Given the description of an element on the screen output the (x, y) to click on. 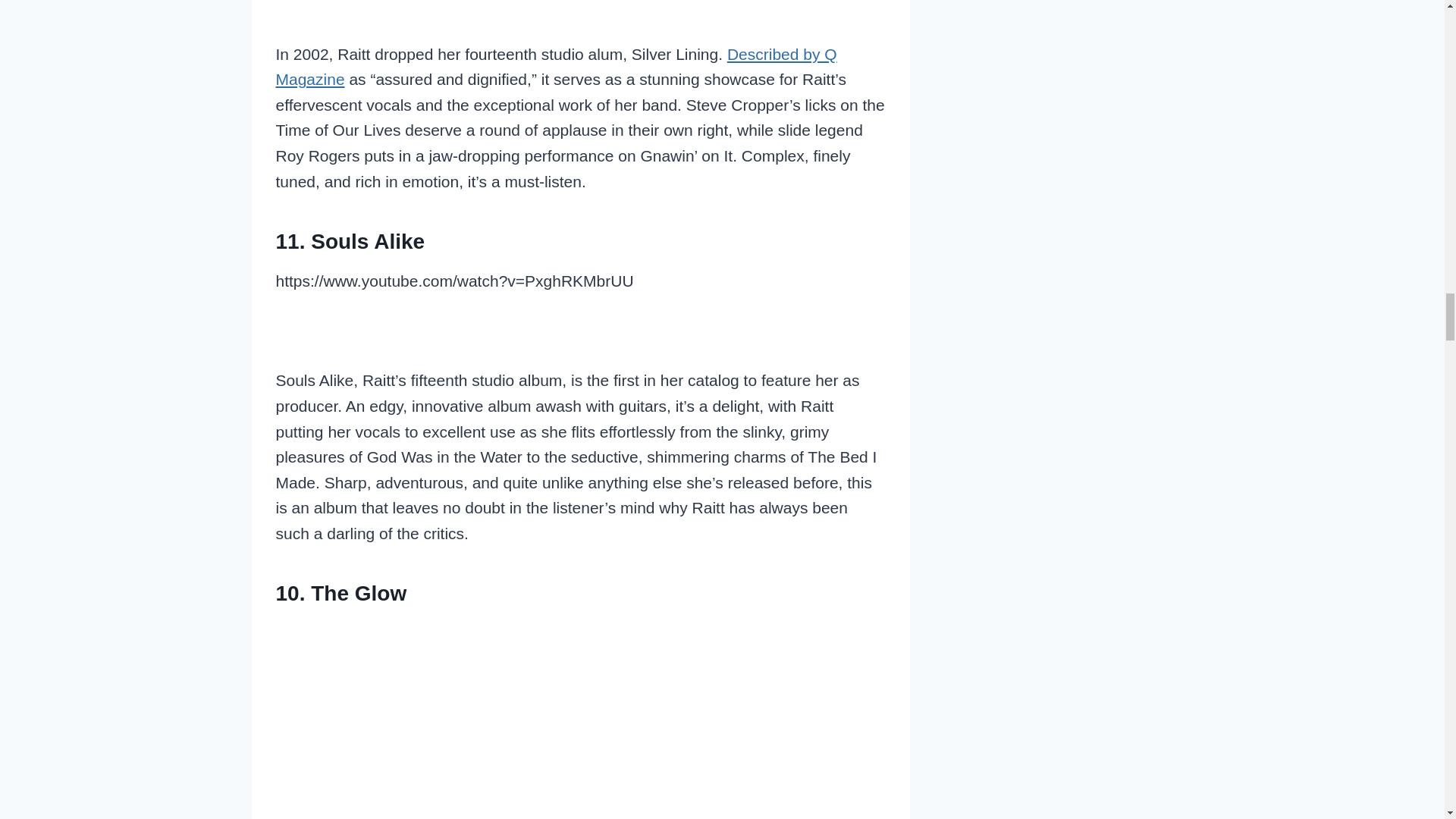
Described by Q Magazine (556, 66)
